Given the description of an element on the screen output the (x, y) to click on. 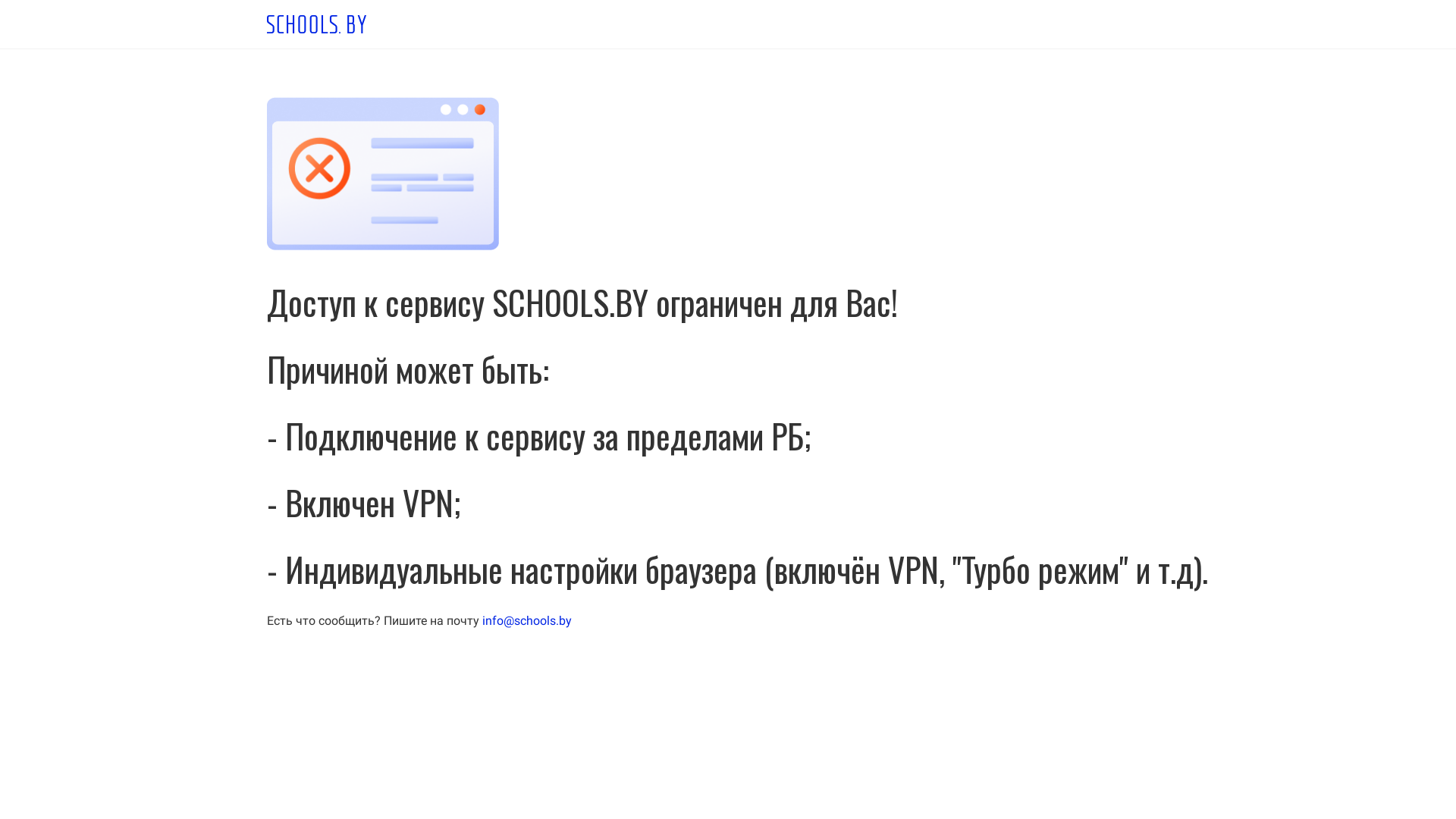
info@schools.by Element type: text (526, 620)
